Given the description of an element on the screen output the (x, y) to click on. 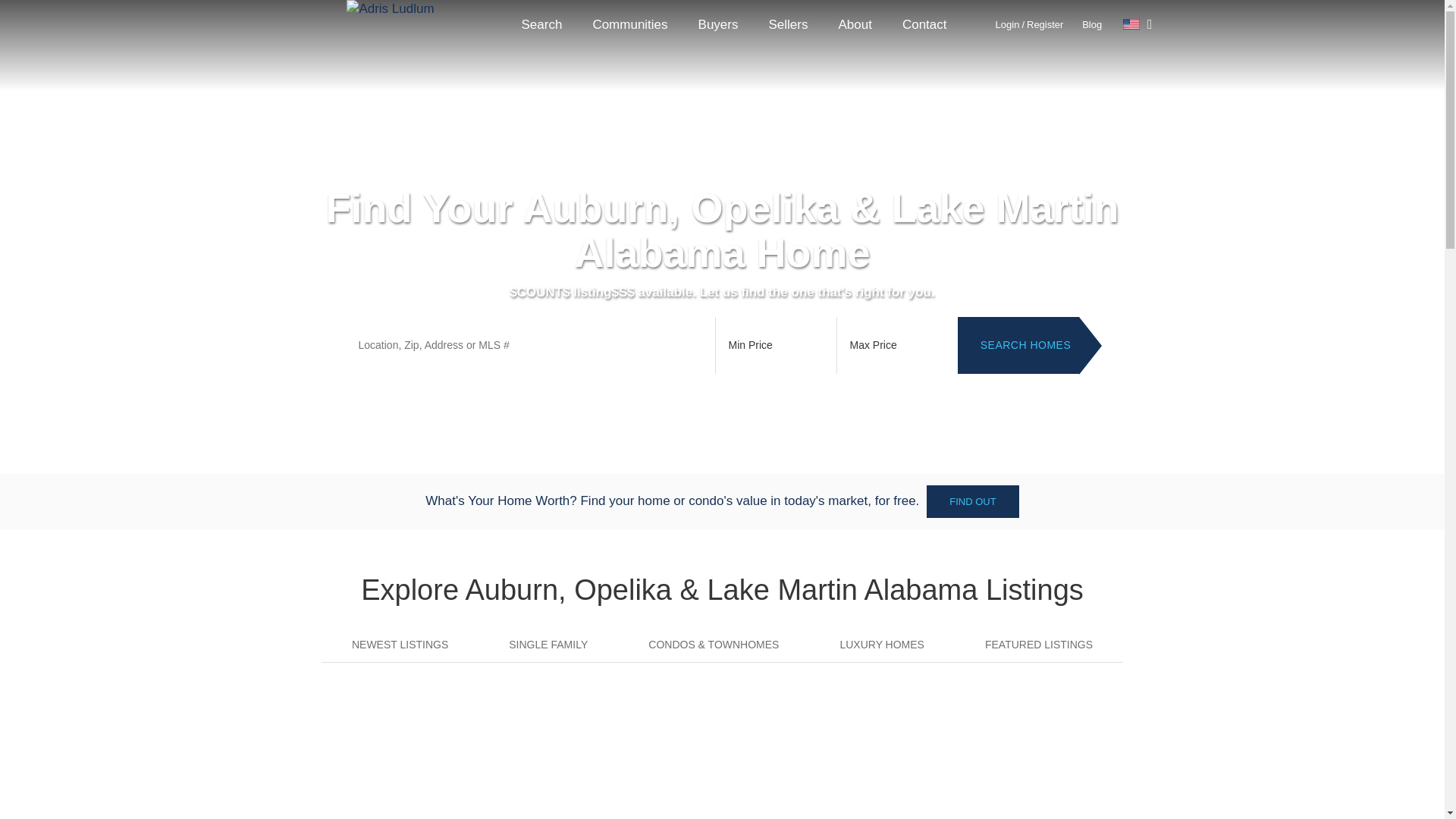
Buyers (718, 24)
Sellers (789, 24)
Communities (629, 24)
Register (1044, 24)
About (854, 24)
Select Language (1137, 24)
Blog (1091, 24)
Contact (924, 24)
Search (542, 24)
